Given the description of an element on the screen output the (x, y) to click on. 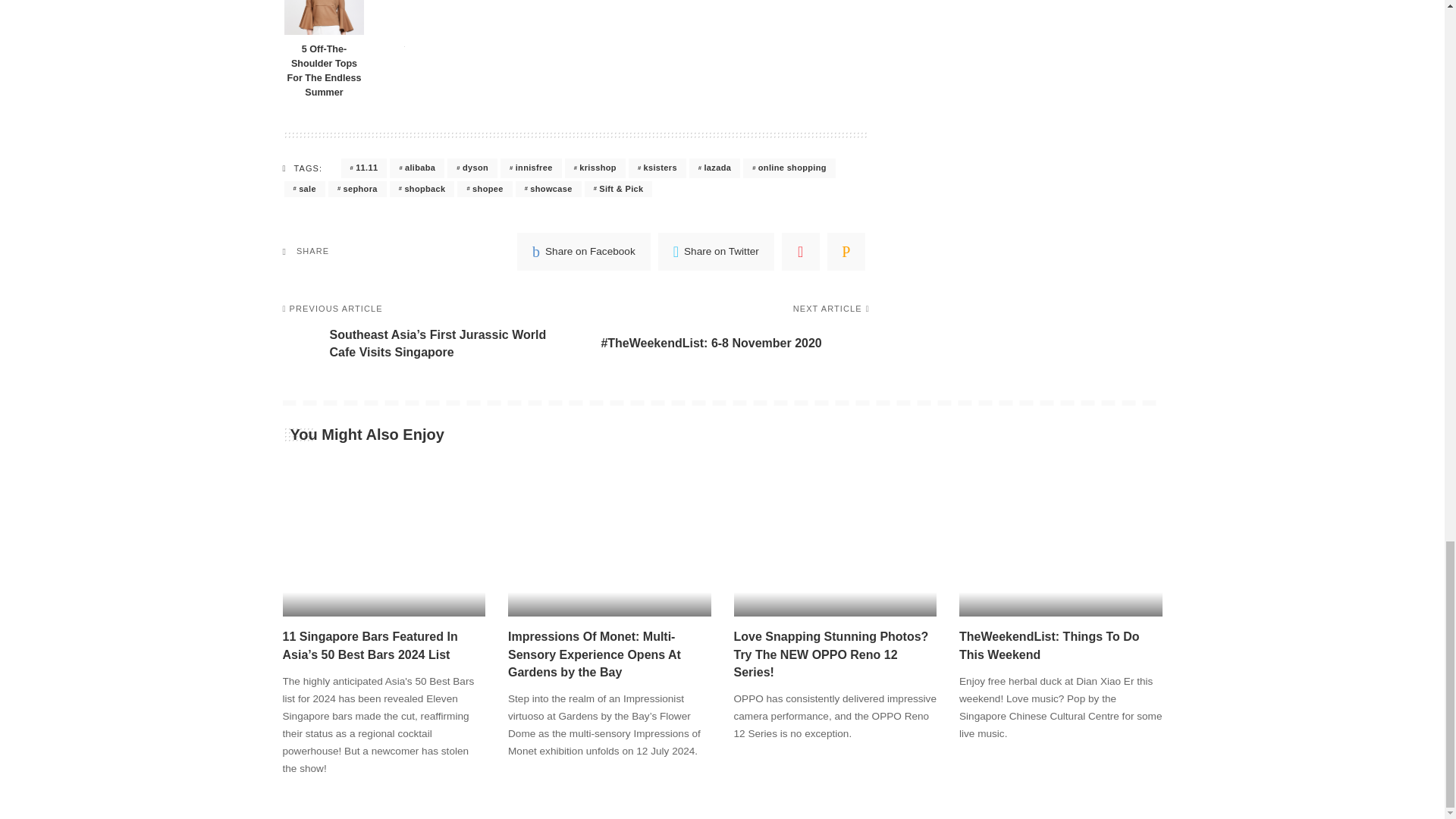
online shopping (788, 168)
krisshop (595, 168)
alibaba (417, 168)
dyson (471, 168)
11.11 (363, 168)
lazada (713, 168)
innisfree (531, 168)
ksisters (656, 168)
